Given the description of an element on the screen output the (x, y) to click on. 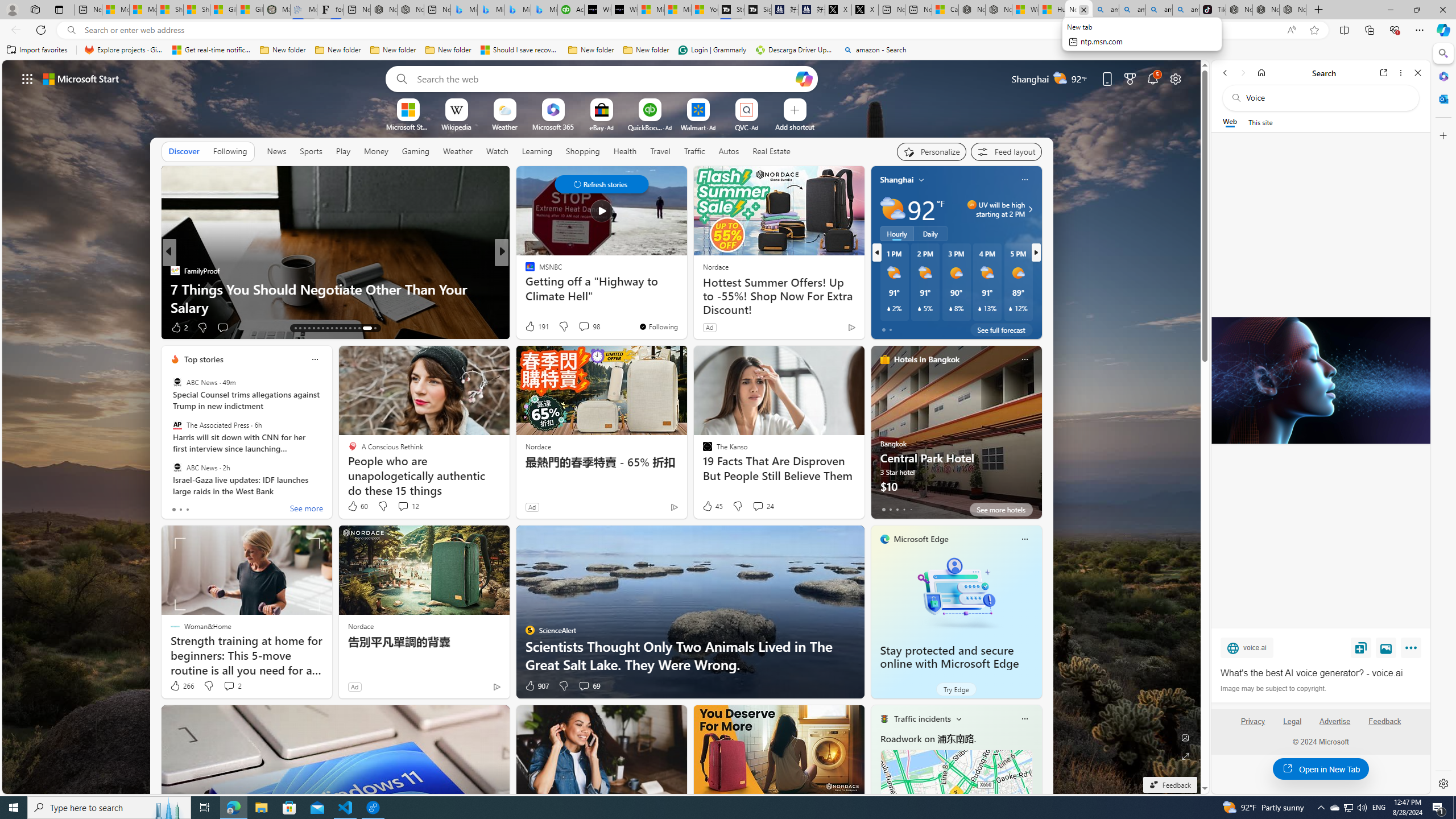
Travel (660, 151)
Side bar (1443, 418)
Class: weather-current-precipitation-glyph (1011, 308)
Real Estate (771, 151)
voice.ai (1247, 647)
Descarga Driver Updater (794, 49)
Weather (457, 151)
